Given the description of an element on the screen output the (x, y) to click on. 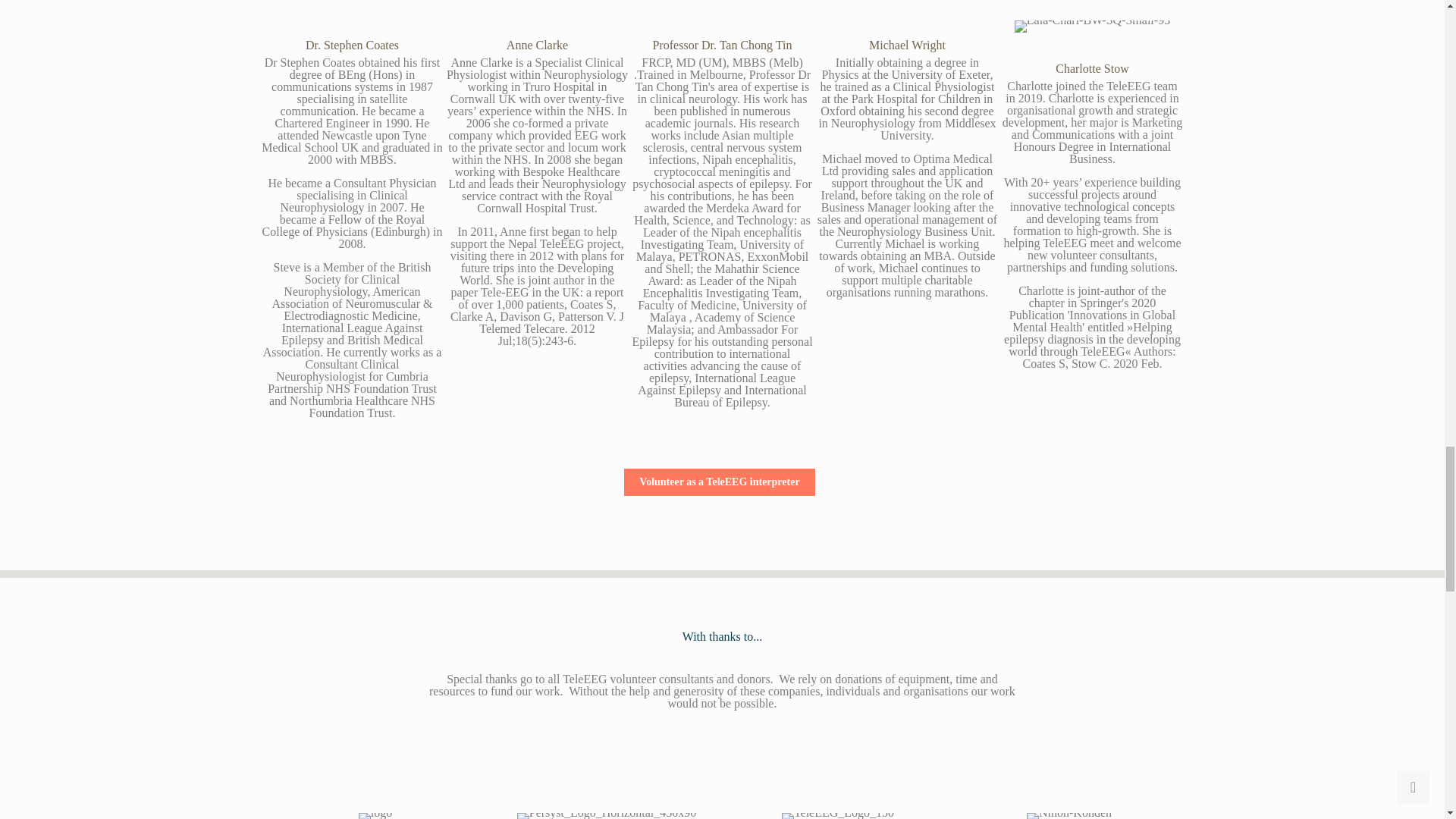
Volunteer as a TeleEEG interpreter (718, 482)
